Given the description of an element on the screen output the (x, y) to click on. 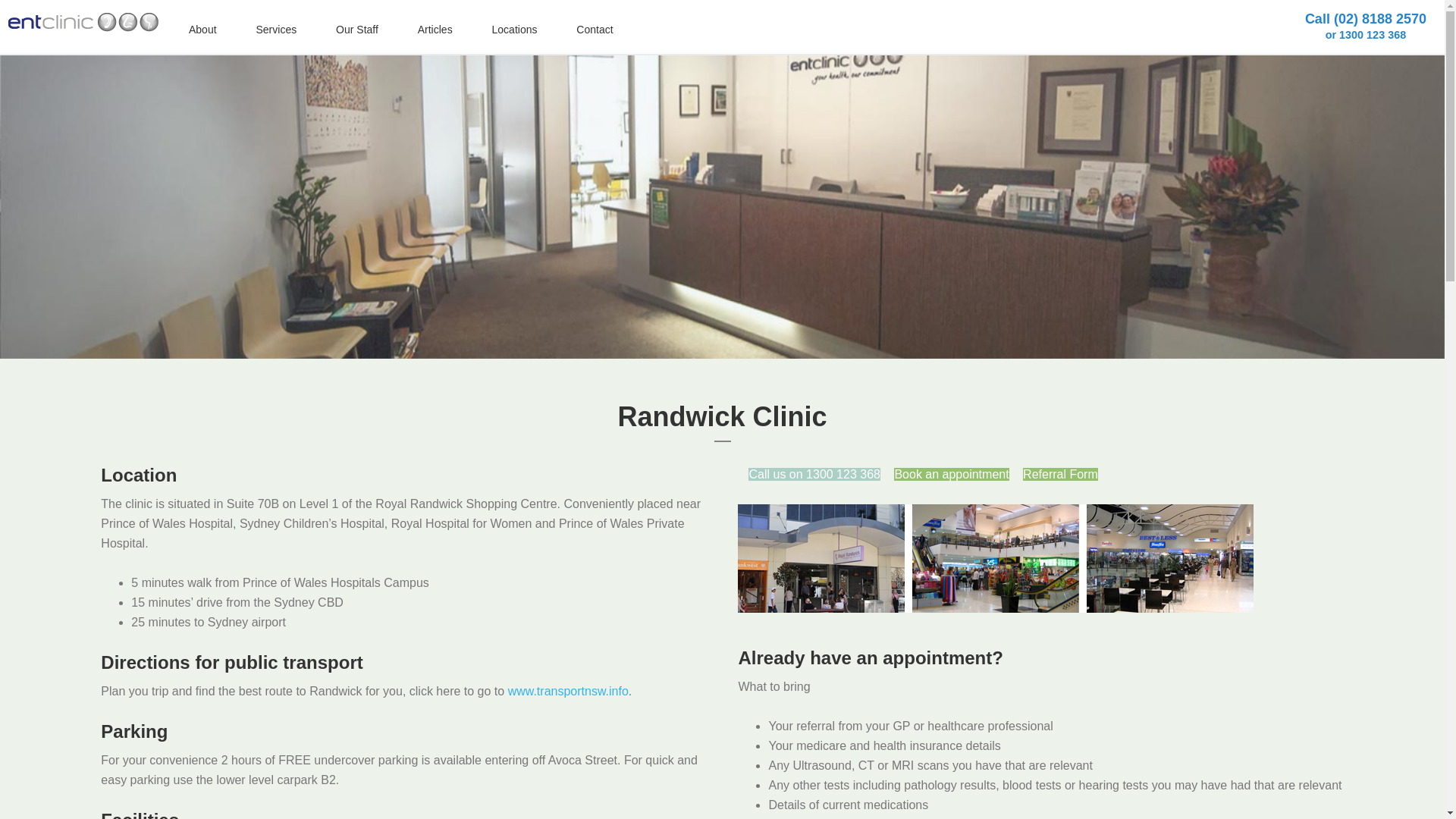
Contact Element type: text (594, 29)
Referral Form Element type: text (1060, 473)
Locations Element type: text (514, 29)
Call (02) 8188 2570
or 1300 123 368 Element type: text (1365, 26)
www.transportnsw.info Element type: text (568, 690)
Call us on 1300 123 368 Element type: text (813, 473)
Services Element type: text (275, 29)
Book an appointment Element type: text (951, 473)
About Element type: text (202, 29)
Articles Element type: text (434, 29)
Our Staff Element type: text (356, 29)
